Given the description of an element on the screen output the (x, y) to click on. 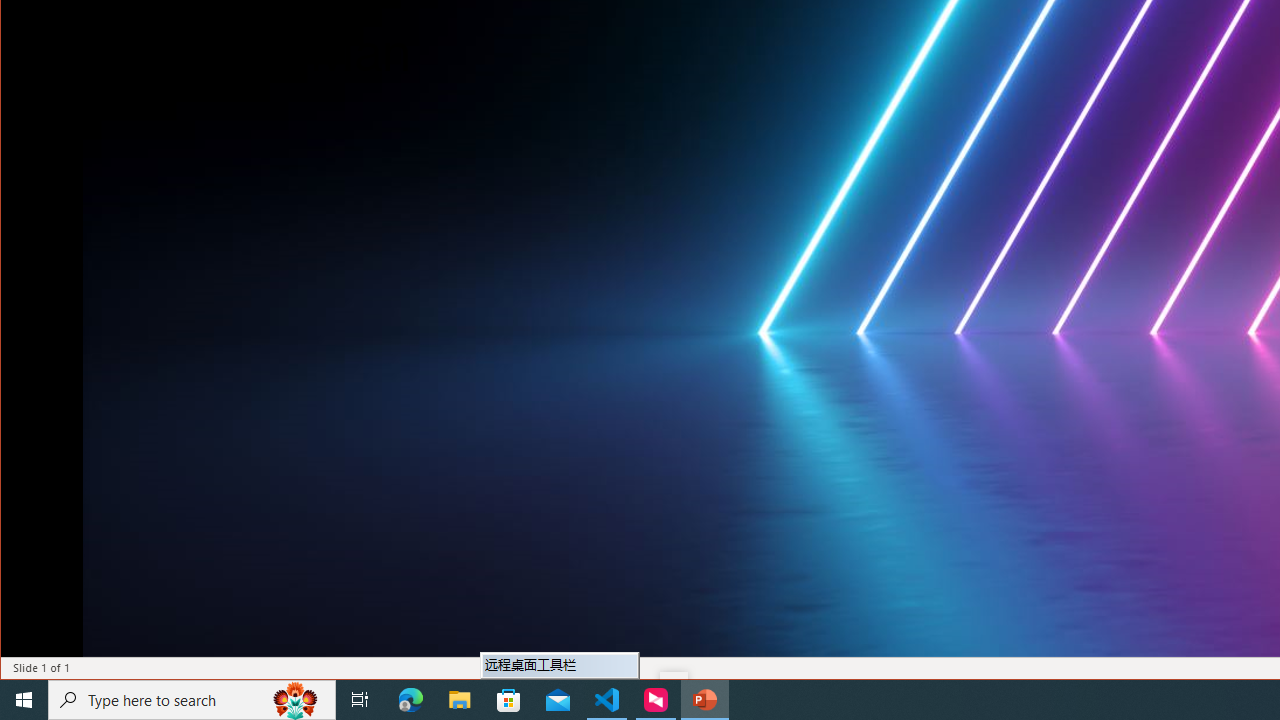
Microsoft Edge (411, 699)
File Explorer (460, 699)
Task View (359, 699)
Start (24, 699)
Microsoft Store (509, 699)
Type here to search (191, 699)
Visual Studio Code - 1 running window (607, 699)
Search highlights icon opens search home window (295, 699)
PowerPoint - 1 running window (704, 699)
